Given the description of an element on the screen output the (x, y) to click on. 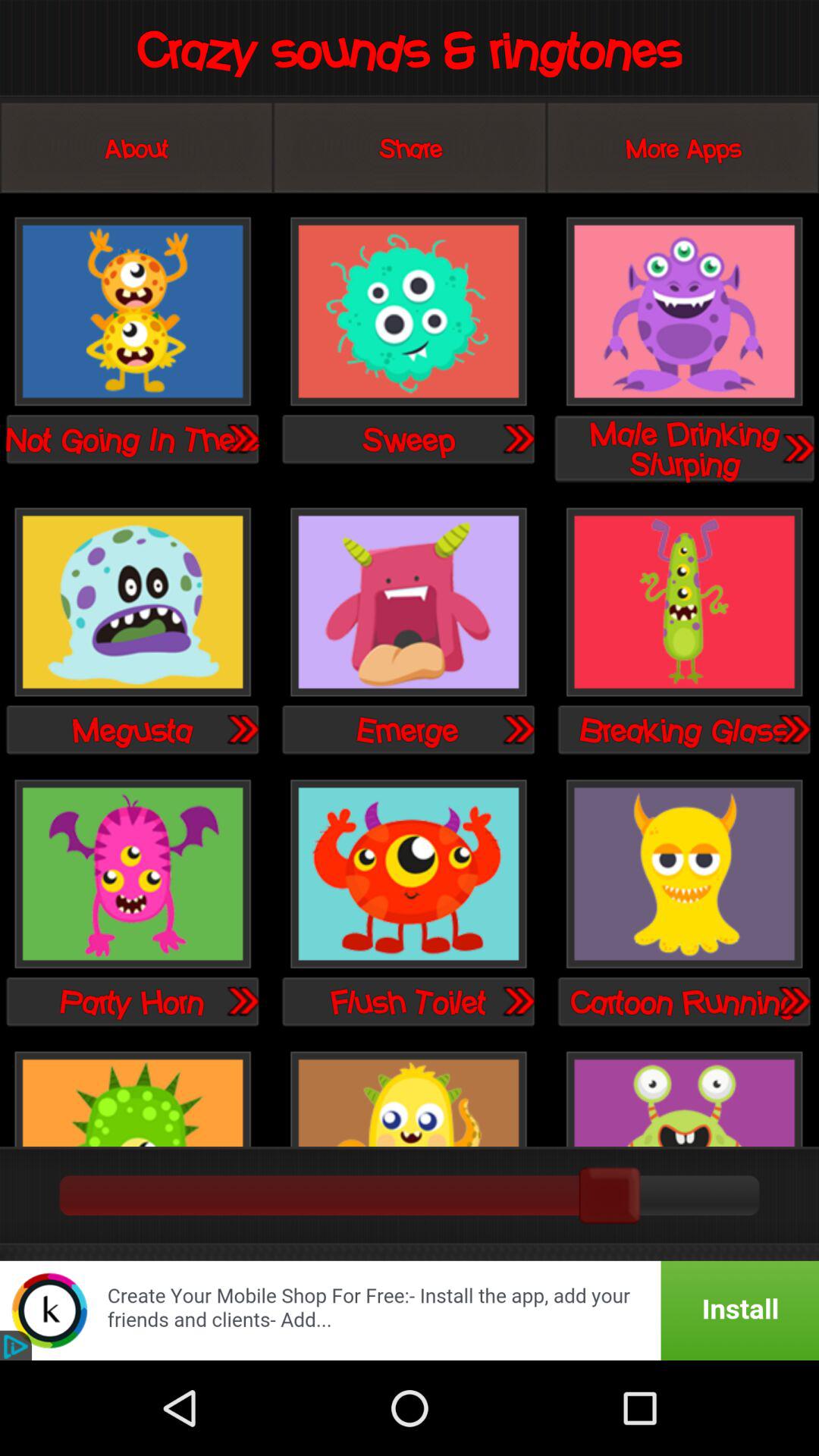
play male drinking (684, 312)
